Given the description of an element on the screen output the (x, y) to click on. 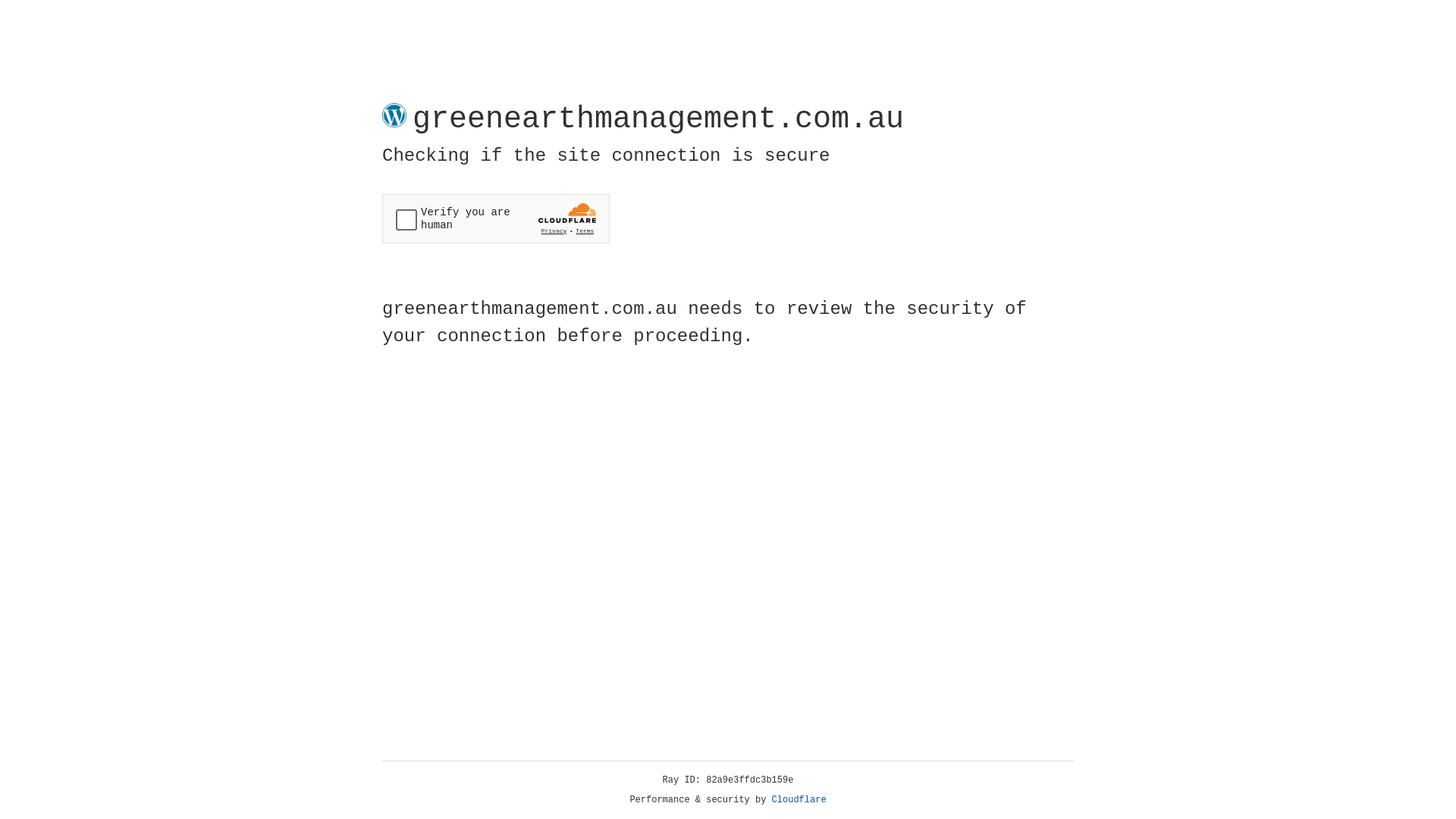
Widget containing a Cloudflare security challenge Element type: hover (495, 218)
Cloudflare Element type: text (798, 799)
